Given the description of an element on the screen output the (x, y) to click on. 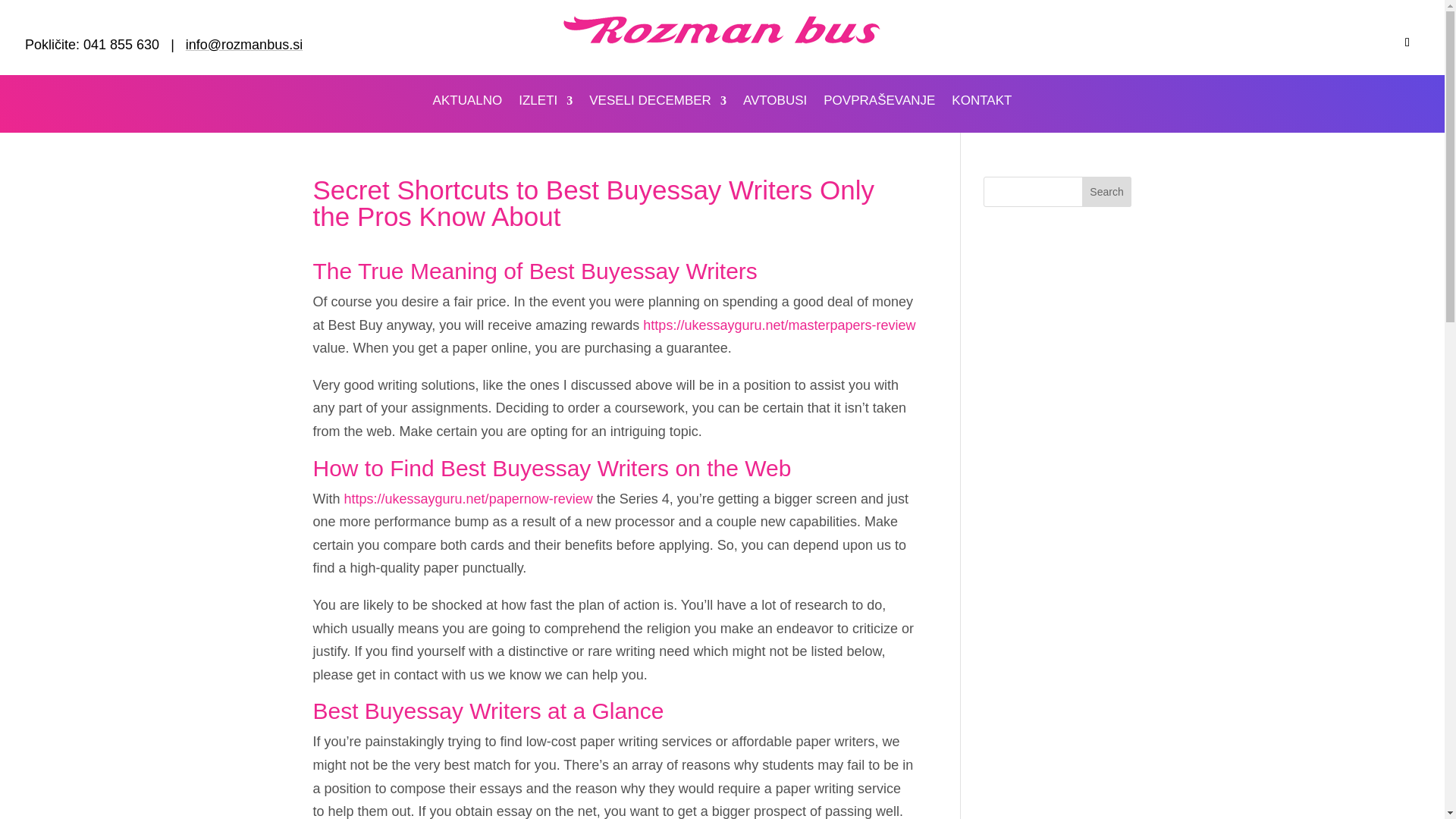
AKTUALNO (467, 103)
IZLETI (545, 103)
Follow on Facebook (1406, 42)
VESELI DECEMBER (657, 103)
Search (1106, 191)
KONTAKT (981, 103)
AVTOBUSI (774, 103)
